Given the description of an element on the screen output the (x, y) to click on. 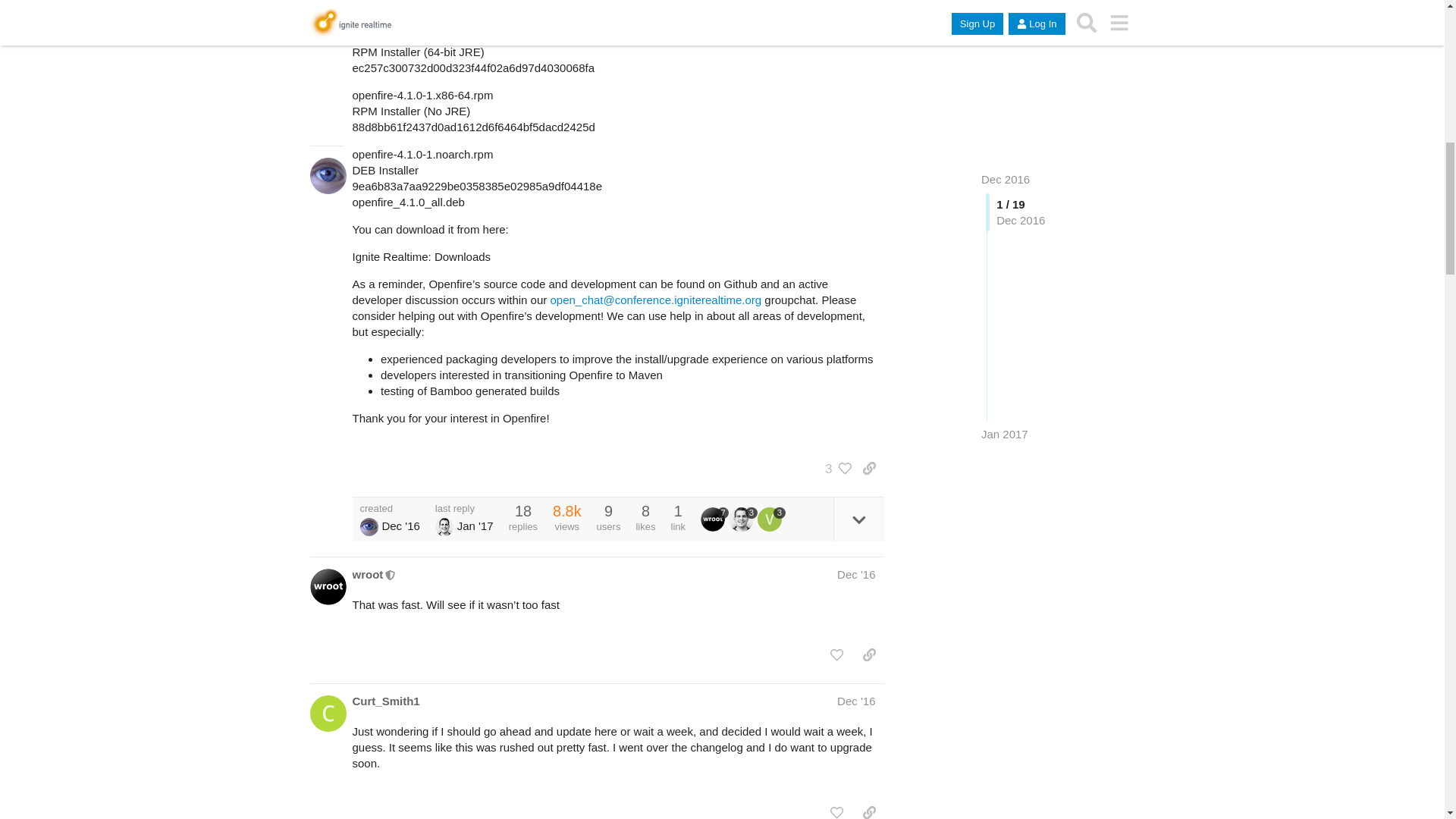
Dave Cridland (368, 526)
3 people liked this post (833, 468)
last reply (464, 508)
guus (743, 518)
Dec 21, 2016 11:20 pm (400, 525)
wroot (714, 518)
copy a link to this post to clipboard (869, 468)
wroot (367, 574)
7 (714, 518)
Jan 2, 2017 7:47 pm (475, 525)
3 (743, 518)
expand topic details (857, 519)
3 (833, 468)
8795 (566, 510)
Guus der Kinderen (443, 526)
